Given the description of an element on the screen output the (x, y) to click on. 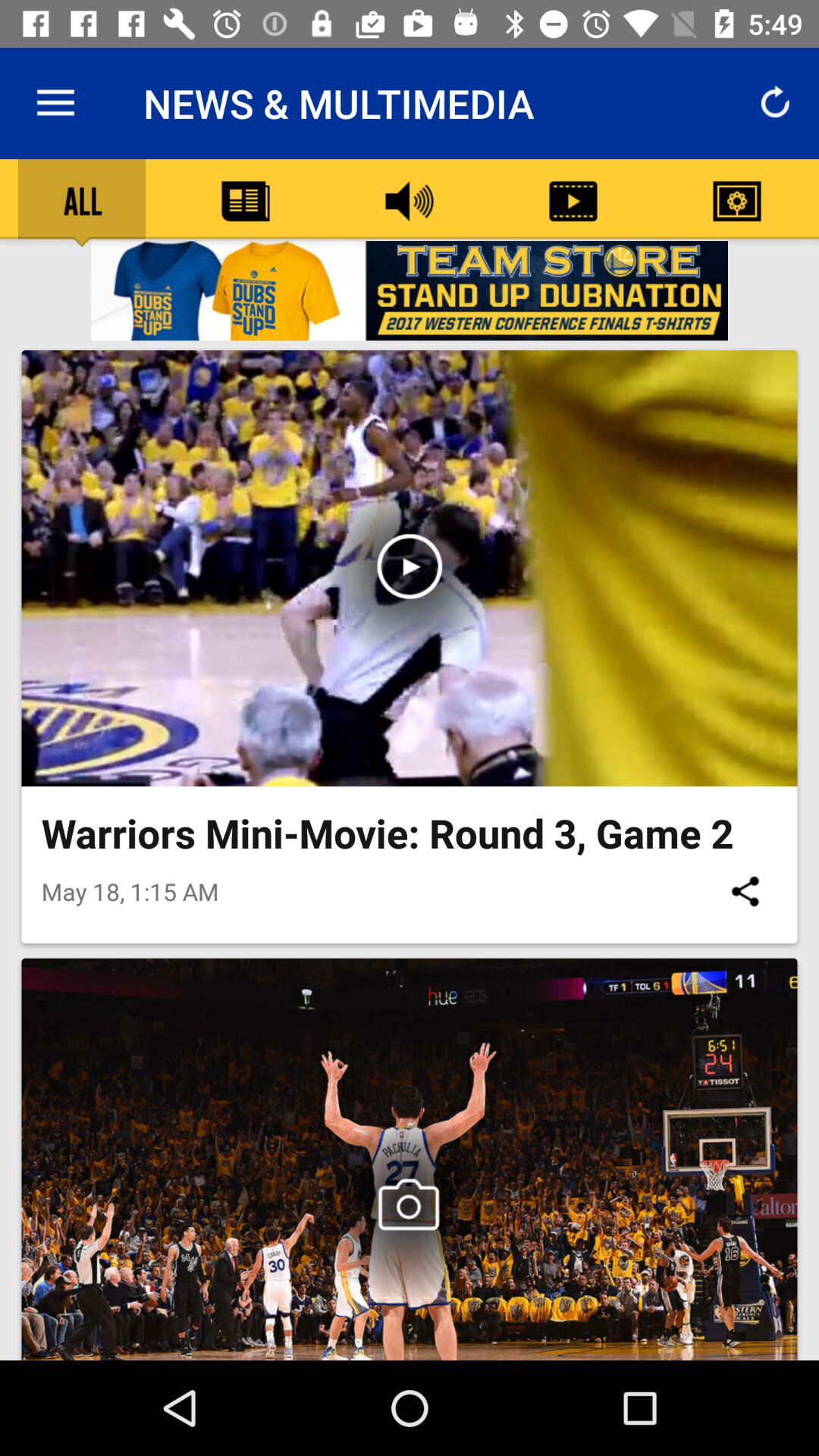
turn off the icon below warriors mini movie (745, 891)
